Given the description of an element on the screen output the (x, y) to click on. 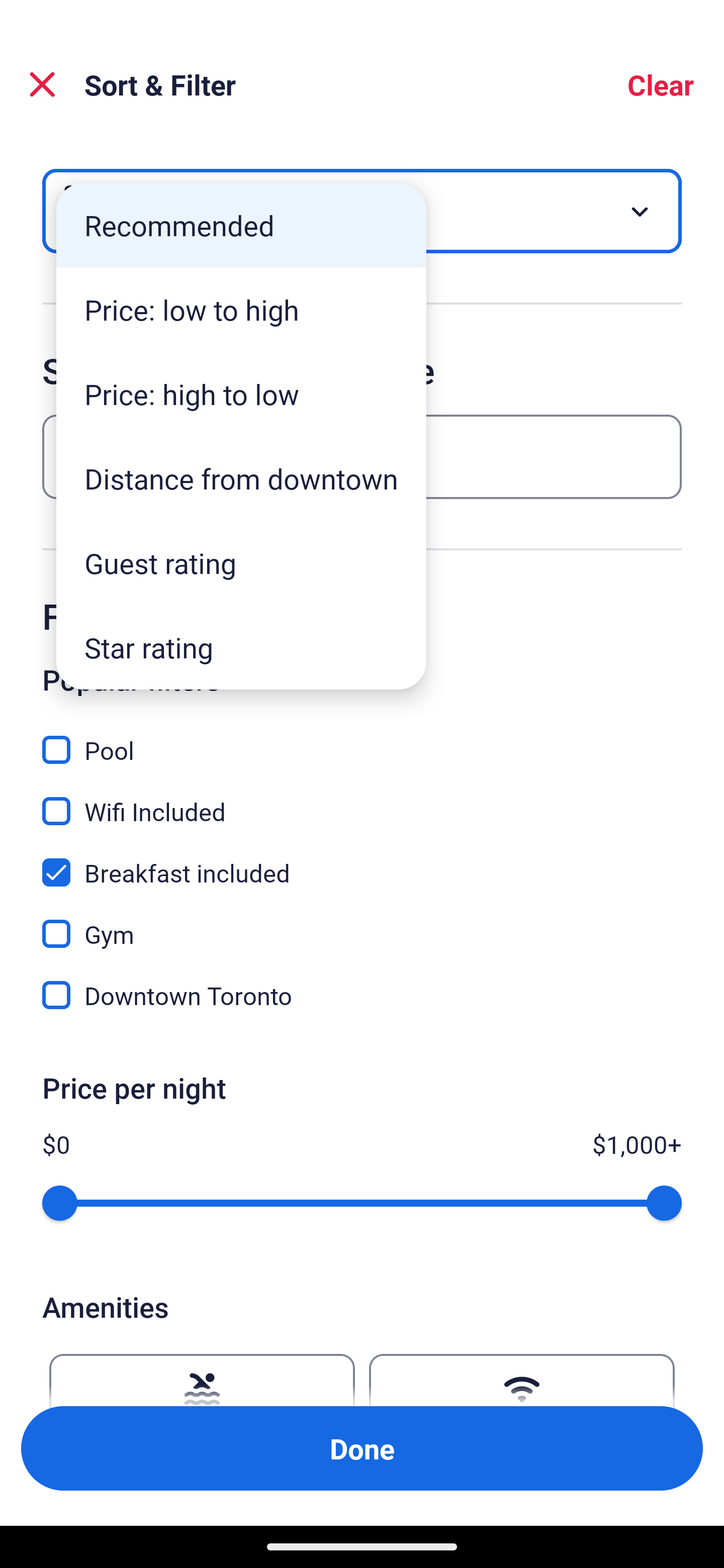
Price: low to high (241, 309)
Price: high to low (241, 393)
Distance from downtown (241, 477)
Guest rating (241, 562)
Star rating (241, 647)
